Given the description of an element on the screen output the (x, y) to click on. 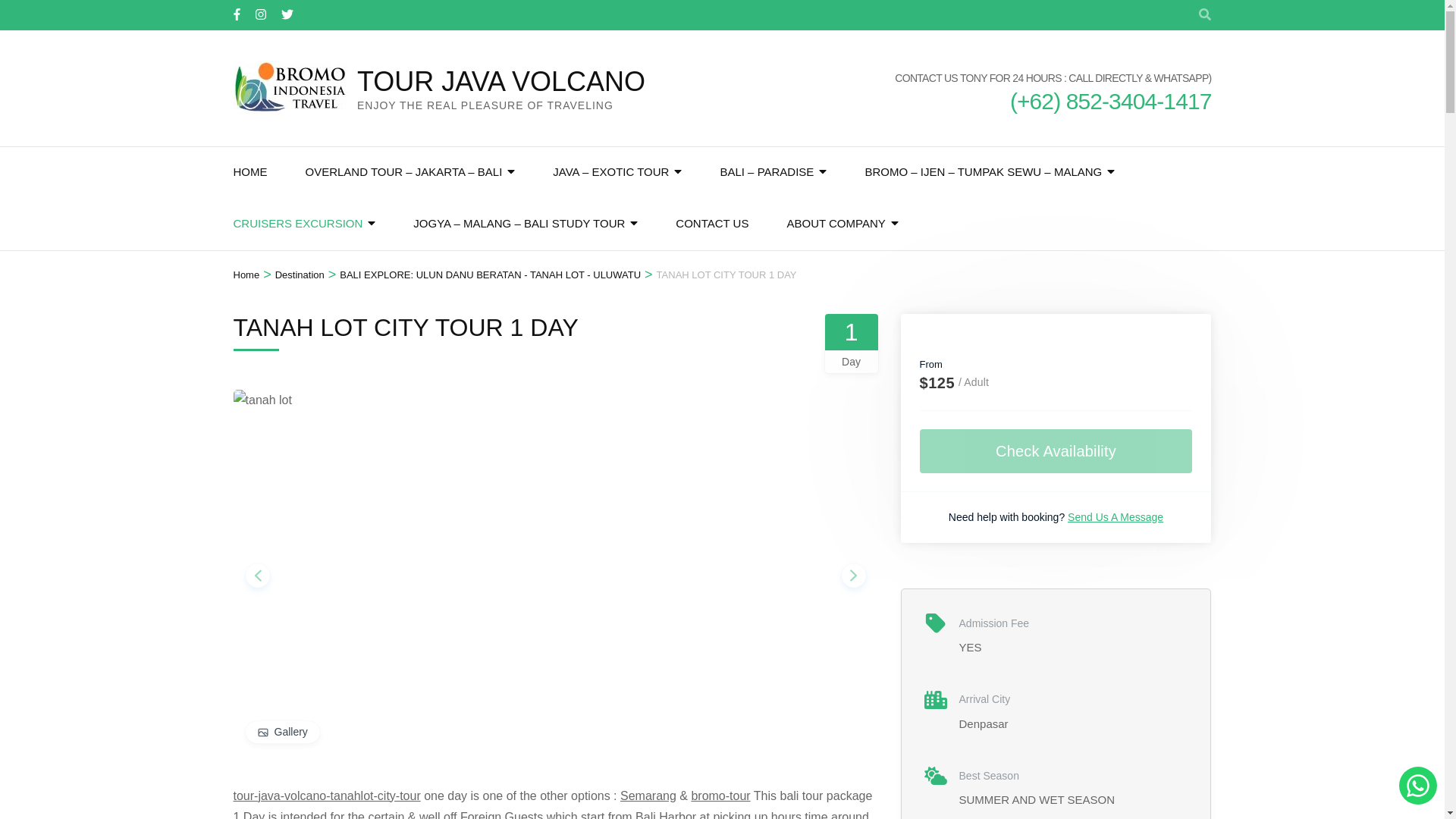
TOUR JAVA VOLCANO (500, 81)
